Given the description of an element on the screen output the (x, y) to click on. 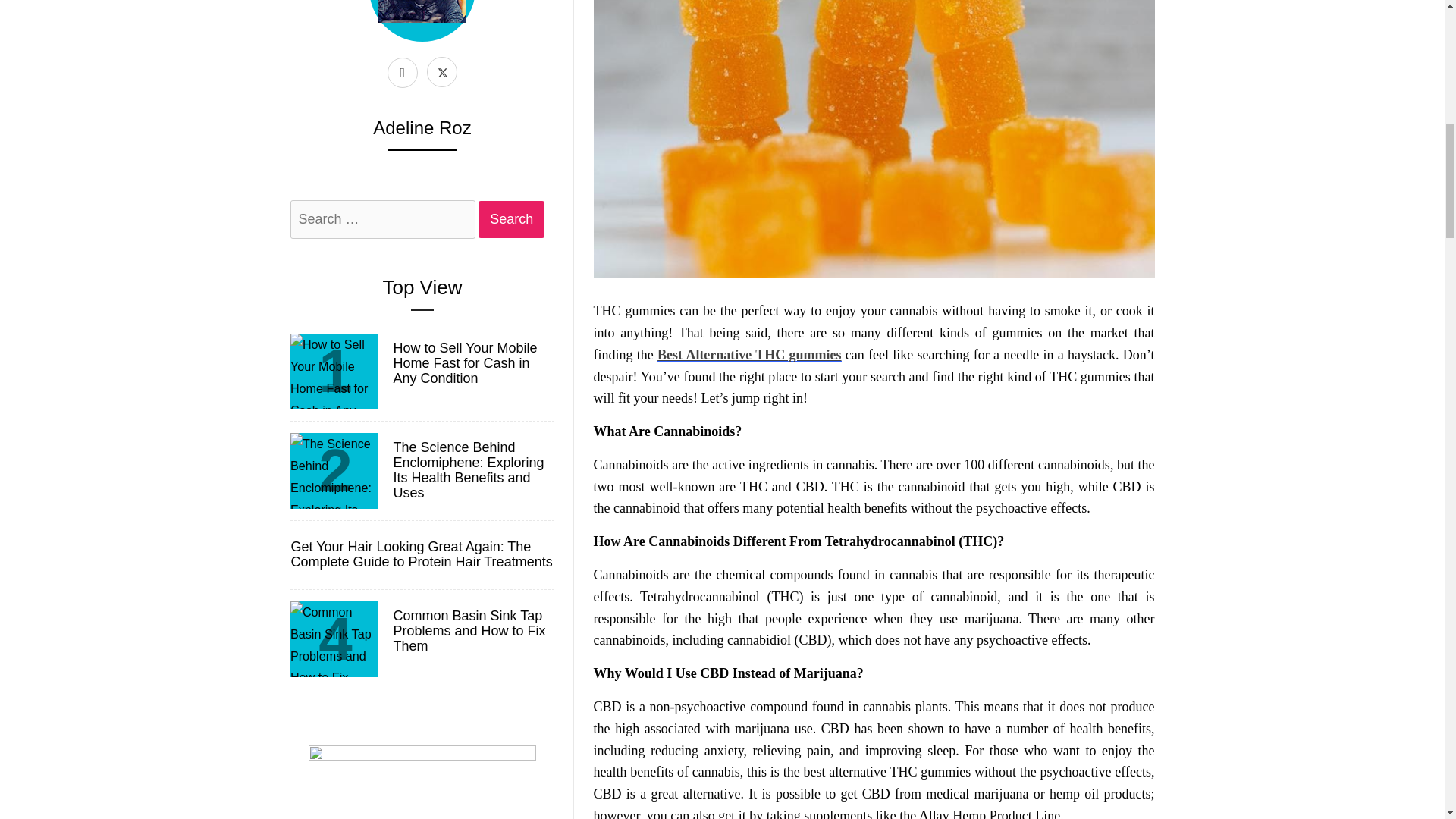
Search (511, 219)
Search (511, 219)
Common Basin Sink Tap Problems and How to Fix Them (471, 631)
Search (511, 219)
How to Sell Your Mobile Home Fast for Cash in Any Condition (471, 363)
Best Alternative THC gummies (749, 354)
